Given the description of an element on the screen output the (x, y) to click on. 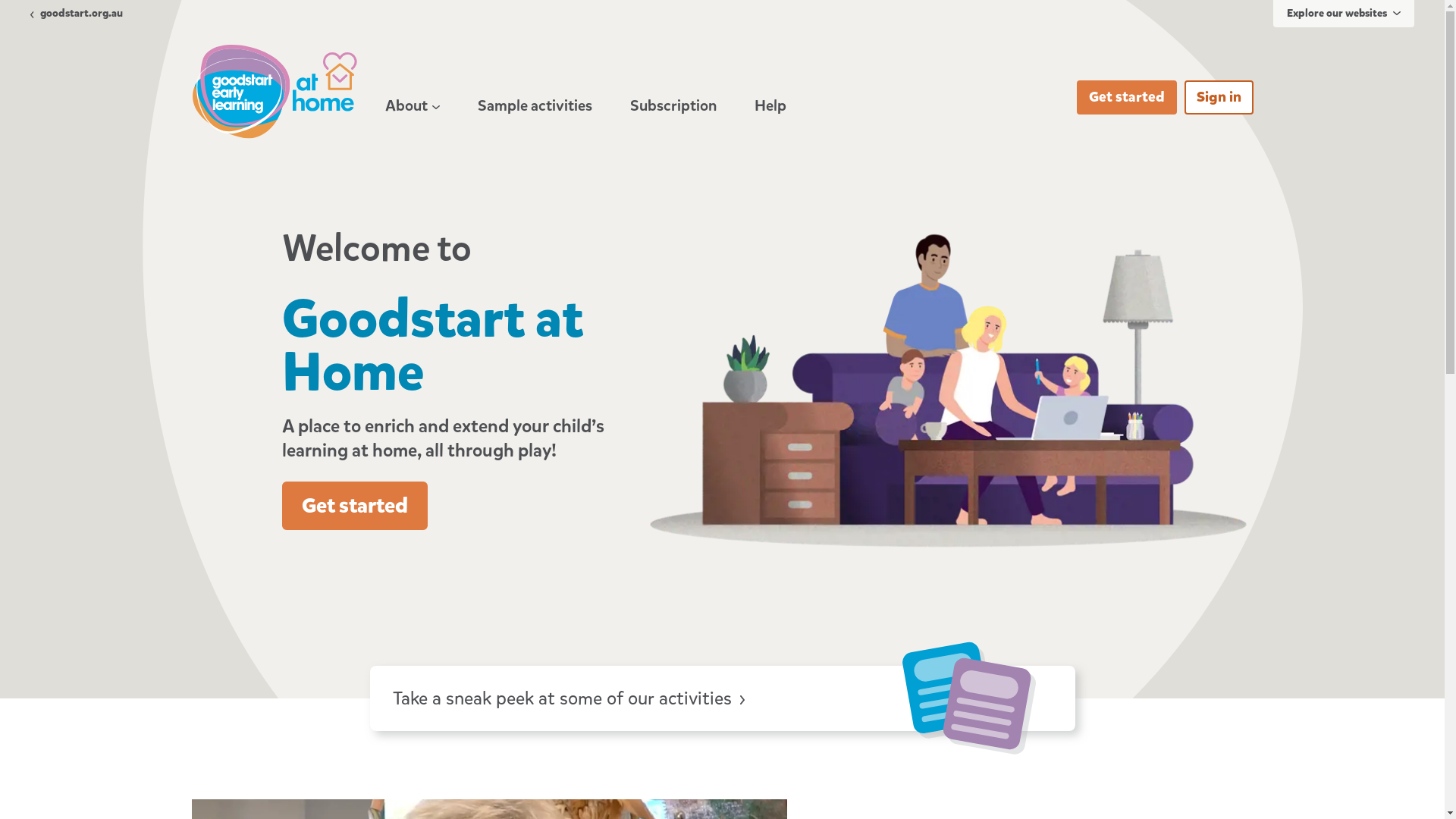
Sign in Element type: text (1218, 97)
About Element type: text (412, 105)
Go to homepage Element type: text (273, 91)
Take a sneak peek at some of our activities Element type: text (722, 698)
Get started Element type: text (354, 505)
Subscription Element type: text (673, 105)
Explore our websites Element type: text (1343, 13)
Get started Element type: text (1126, 97)
Help Element type: text (770, 105)
goodstart.org.au Element type: text (76, 13)
Sample activities Element type: text (534, 105)
